Given the description of an element on the screen output the (x, y) to click on. 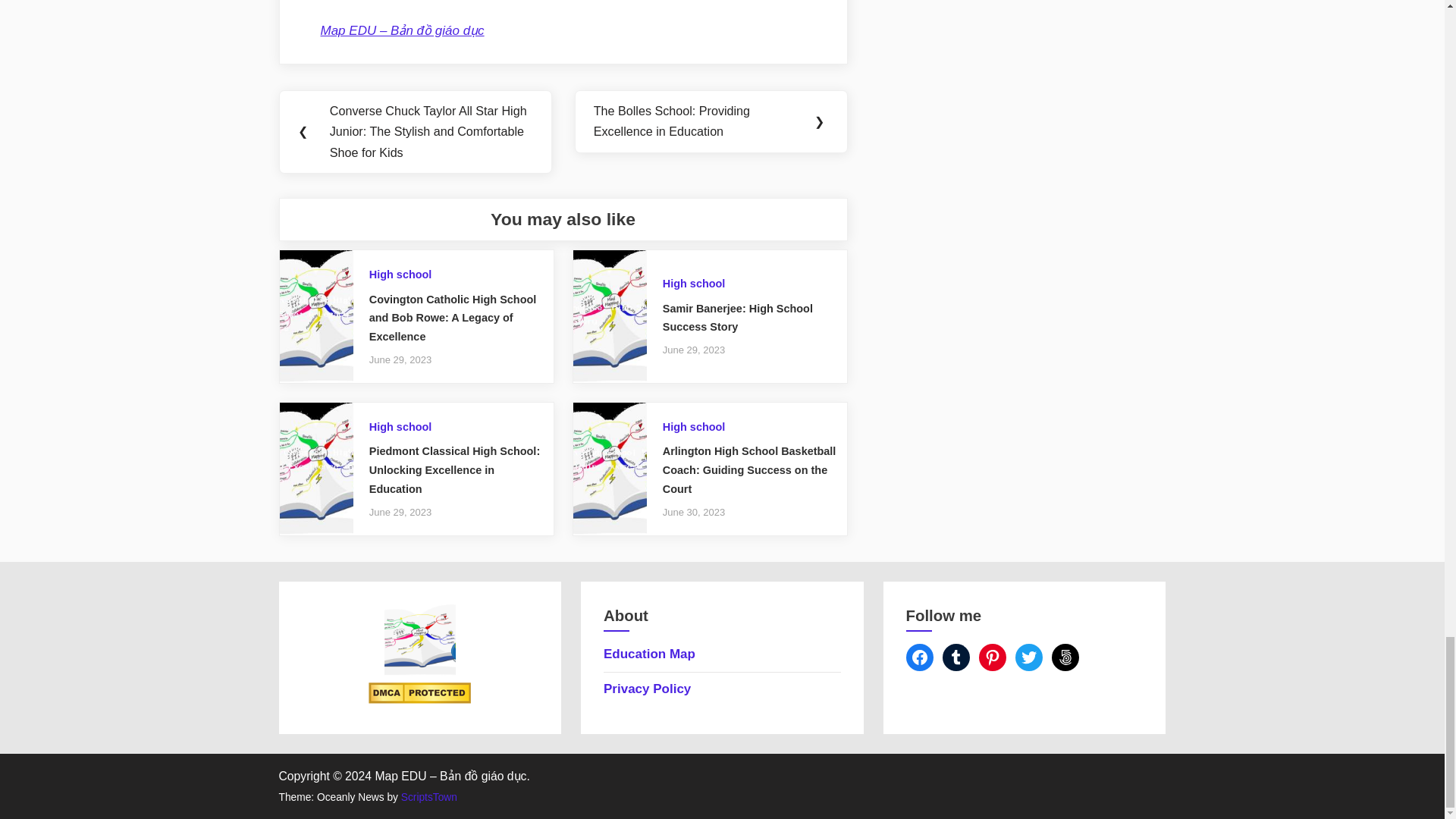
High school (693, 426)
High school (400, 274)
Samir Banerjee: High School Success Story (737, 317)
DMCA.com Protection Status (419, 699)
High school (693, 283)
High school (400, 426)
